Given the description of an element on the screen output the (x, y) to click on. 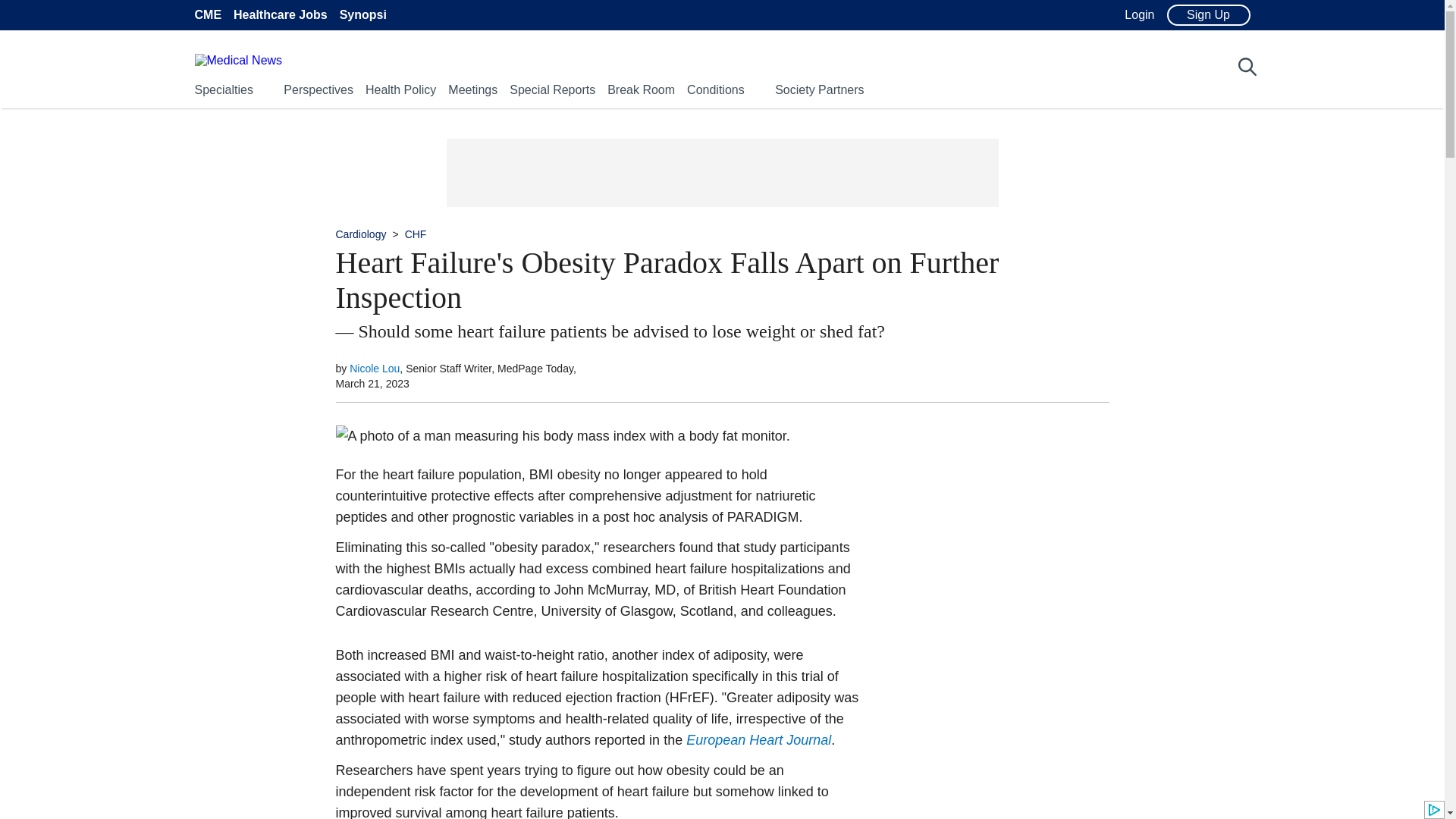
Synopsi (363, 15)
Share on LinkedIn. Opens in a new tab or window (301, 516)
Share on Facebook. Opens in a new tab or window (301, 437)
Opens in a new tab or window (758, 739)
Share on X. Opens in a new tab or window (301, 476)
Healthcare Jobs (279, 15)
Specialties (222, 89)
CME (207, 15)
